Given the description of an element on the screen output the (x, y) to click on. 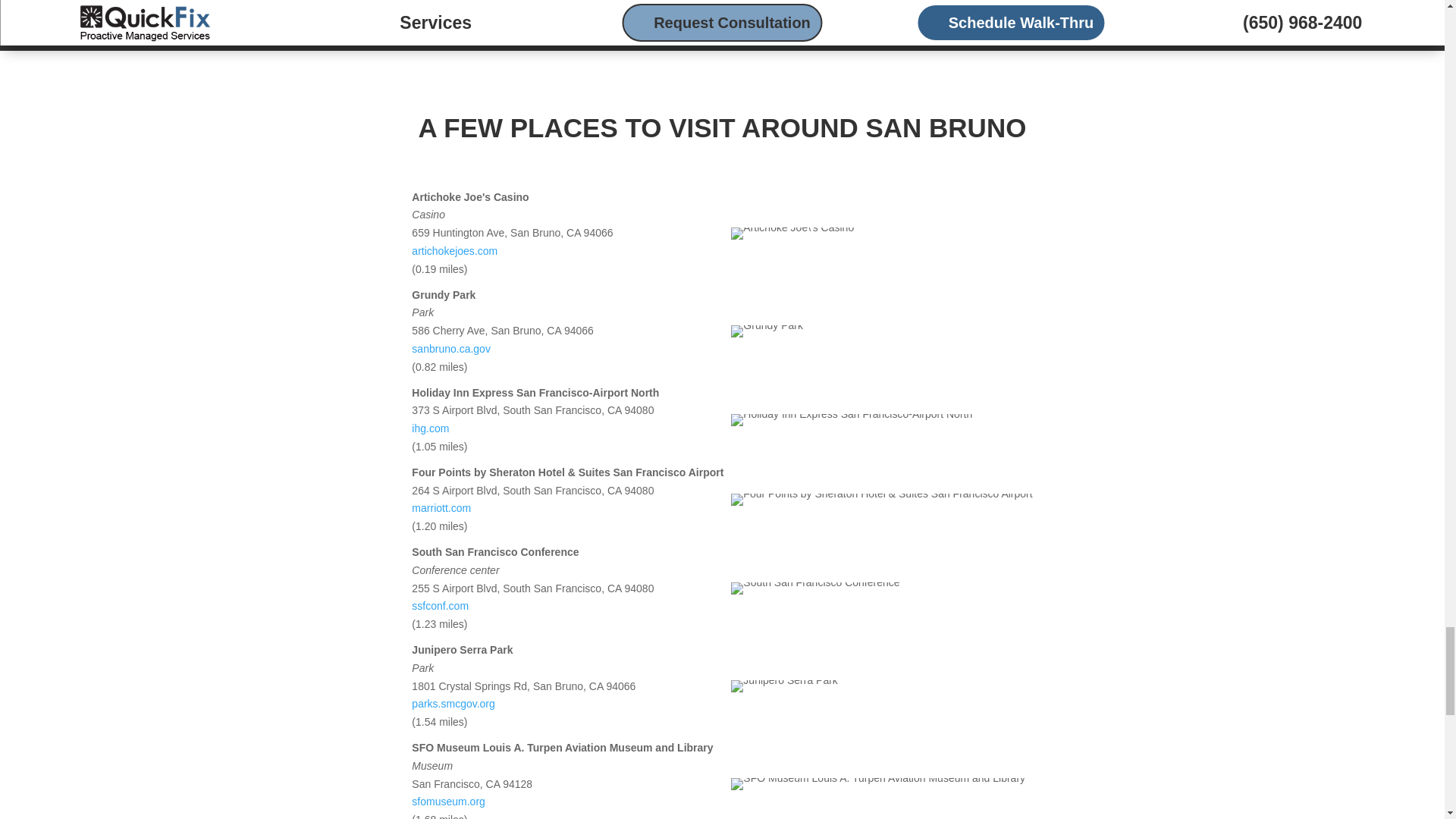
ihg.com (430, 428)
marriott.com (441, 508)
ssfconf.com (440, 605)
artichokejoes.com (454, 250)
sfomuseum.org (448, 801)
parks.smcgov.org (453, 703)
sanbruno.ca.gov (451, 348)
